Given the description of an element on the screen output the (x, y) to click on. 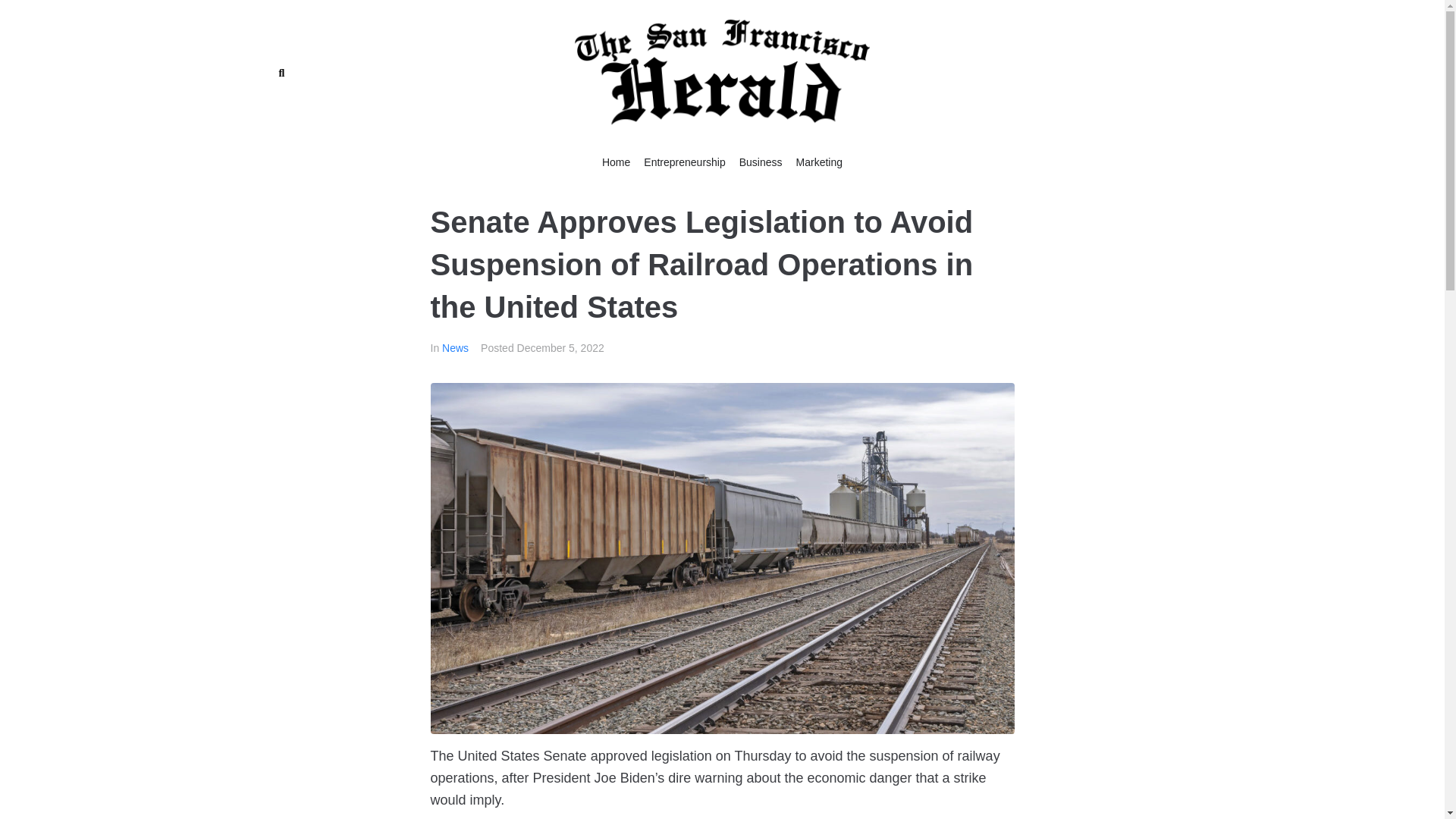
Entrepreneurship (684, 161)
Marketing (819, 161)
News (455, 347)
Business (761, 161)
Home (616, 161)
